Given the description of an element on the screen output the (x, y) to click on. 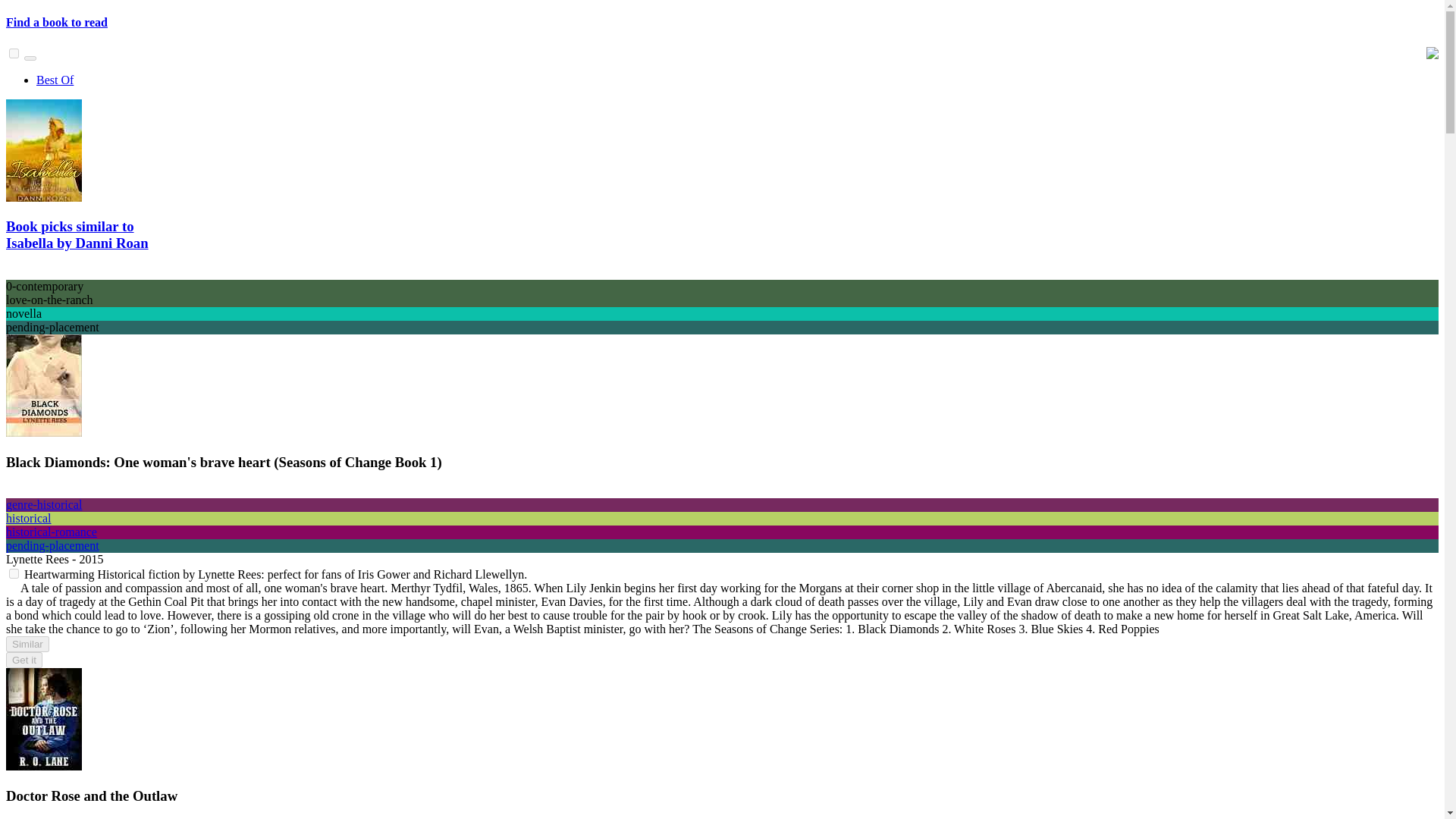
genre-historical (43, 504)
Find a book to read (56, 21)
historical-romance (51, 531)
historical (27, 517)
Get it (23, 659)
Similar (27, 643)
on (13, 53)
Best Of (55, 79)
on (13, 573)
pending-placement (52, 545)
